Given the description of an element on the screen output the (x, y) to click on. 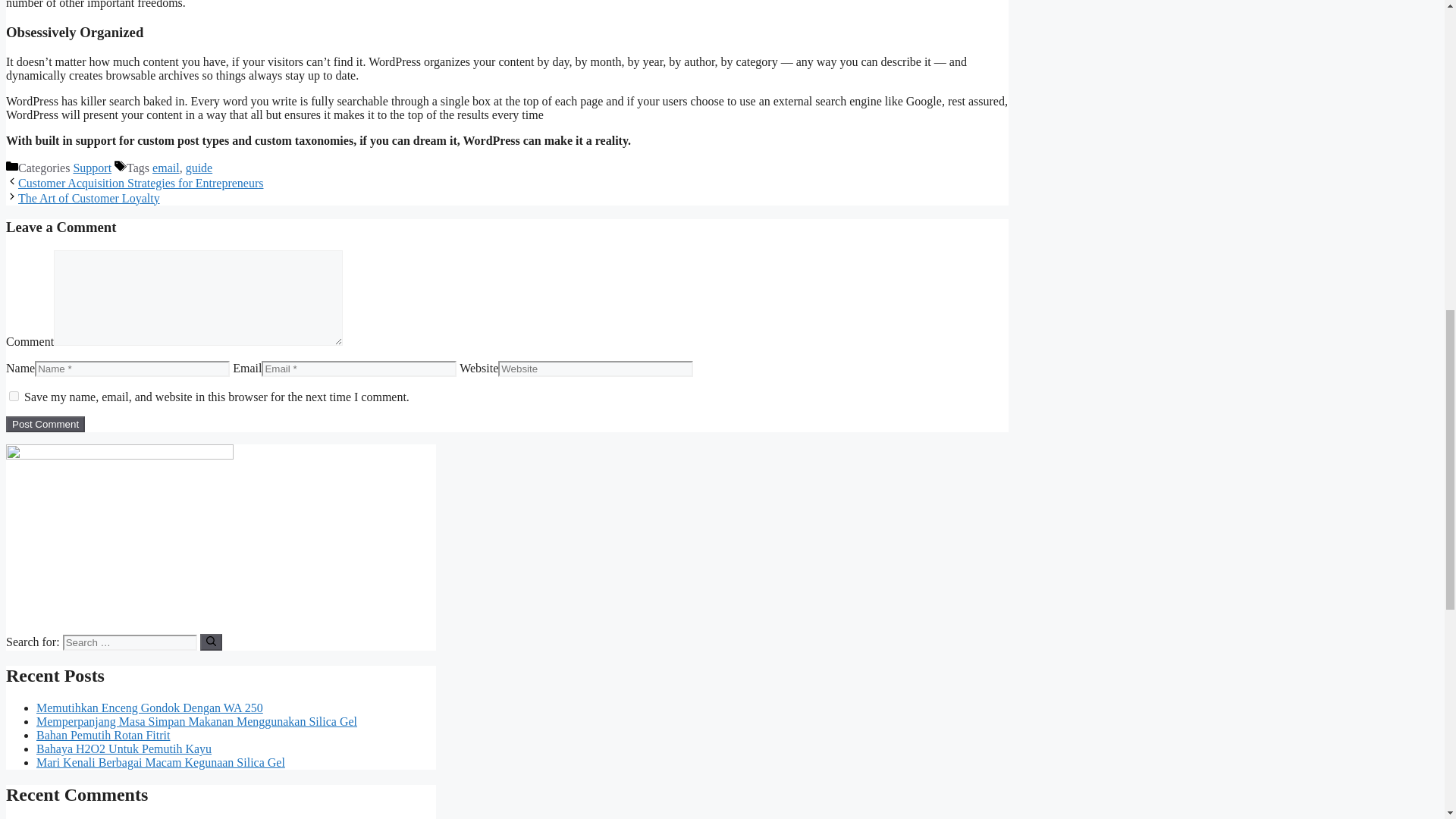
Support (92, 167)
Mari Kenali Berbagai Macam Kegunaan Silica Gel (160, 762)
Post Comment (44, 424)
Customer Acquisition Strategies for Entrepreneurs (140, 182)
Bahaya H2O2 Untuk Pemutih Kayu (123, 748)
email (165, 167)
guide (199, 167)
yes (13, 396)
Memutihkan Enceng Gondok Dengan WA 250 (149, 707)
Bahan Pemutih Rotan Fitrit (103, 735)
Post Comment (44, 424)
Search for: (129, 642)
Memperpanjang Masa Simpan Makanan Menggunakan Silica Gel (196, 721)
The Art of Customer Loyalty (88, 197)
